Given the description of an element on the screen output the (x, y) to click on. 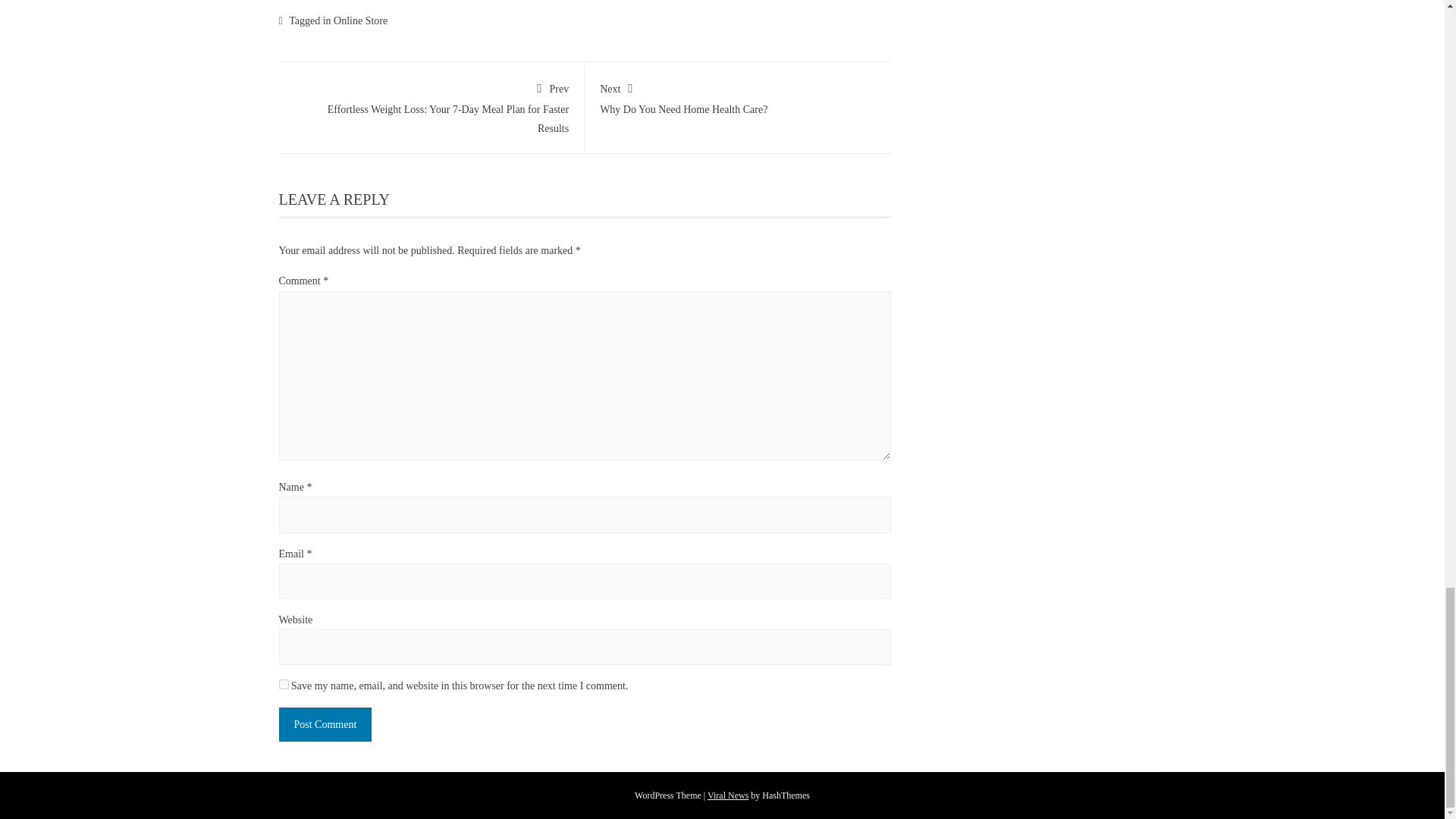
yes (283, 684)
Online Store (360, 20)
Post Comment (737, 95)
Post Comment (325, 724)
Download Viral News (325, 724)
